Given the description of an element on the screen output the (x, y) to click on. 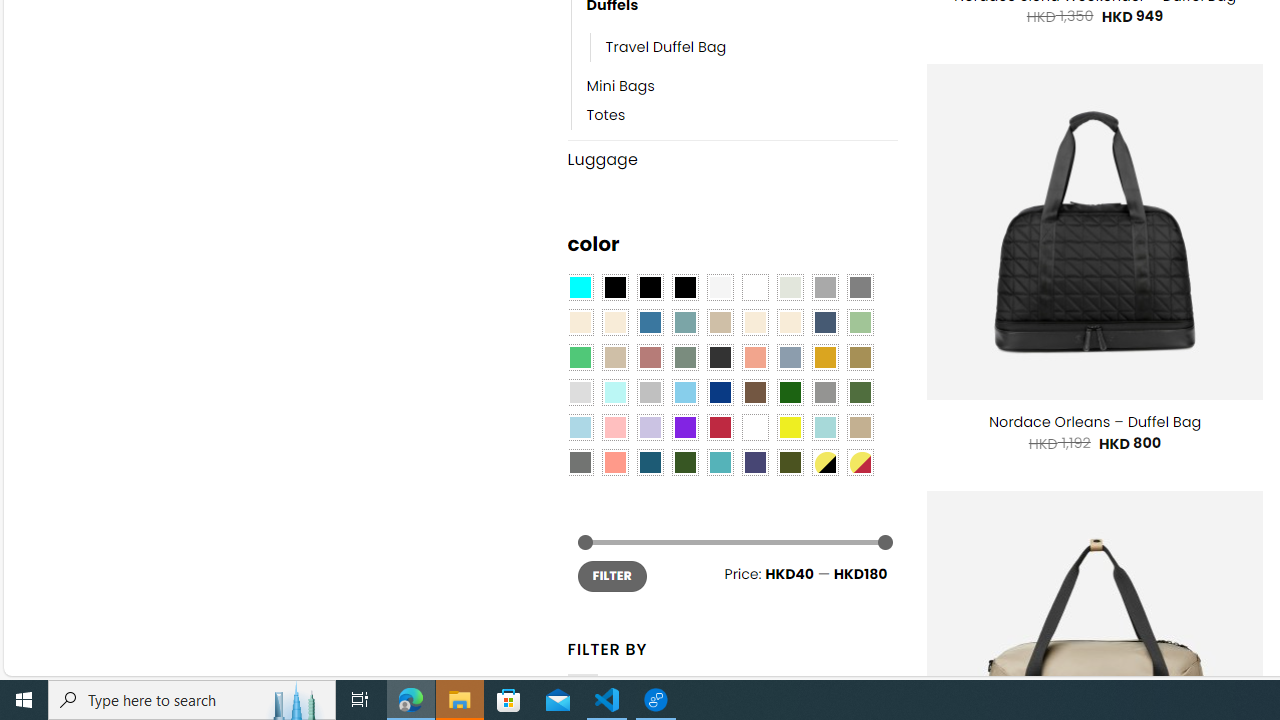
Peach Pink (614, 462)
All Black (614, 287)
Dull Nickle (579, 462)
Khaki (859, 427)
Travel Duffel Bag (666, 48)
Cream (789, 323)
Light Blue (579, 427)
Capri Blue (650, 462)
Teal (719, 462)
Luggage (732, 160)
Sage (684, 357)
Gray (824, 393)
Dark Gray (824, 287)
Purple Navy (755, 462)
